Given the description of an element on the screen output the (x, y) to click on. 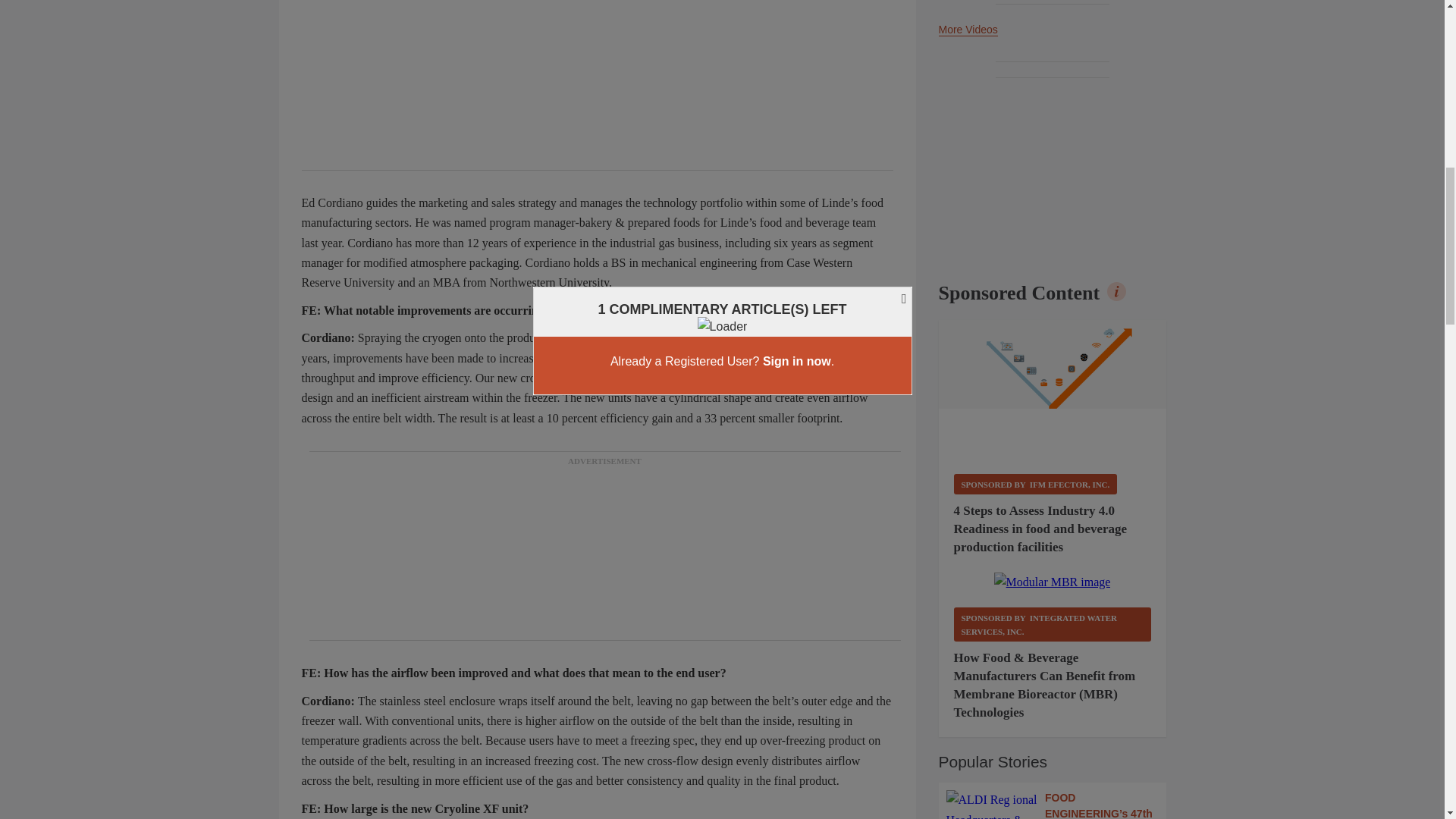
Sponsored by Integrated Water Services, Inc. (1052, 624)
Modular MBR (1052, 582)
Industry 4.0 Y path (1052, 389)
Sponsored by ifm Efector, Inc. (1035, 484)
